Given the description of an element on the screen output the (x, y) to click on. 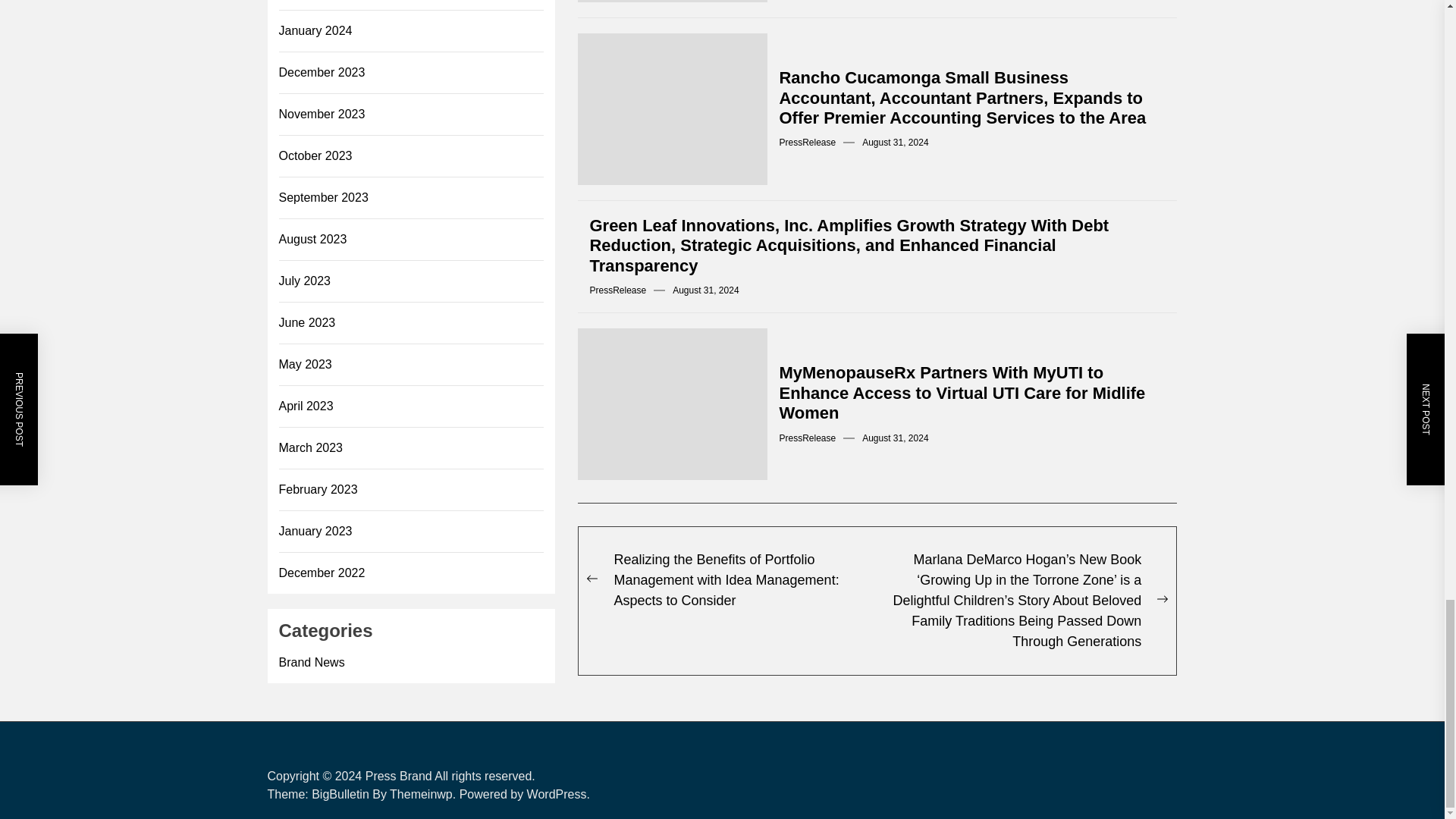
WordPress (558, 793)
Themeinwp (425, 793)
Press Brand (398, 775)
